Given the description of an element on the screen output the (x, y) to click on. 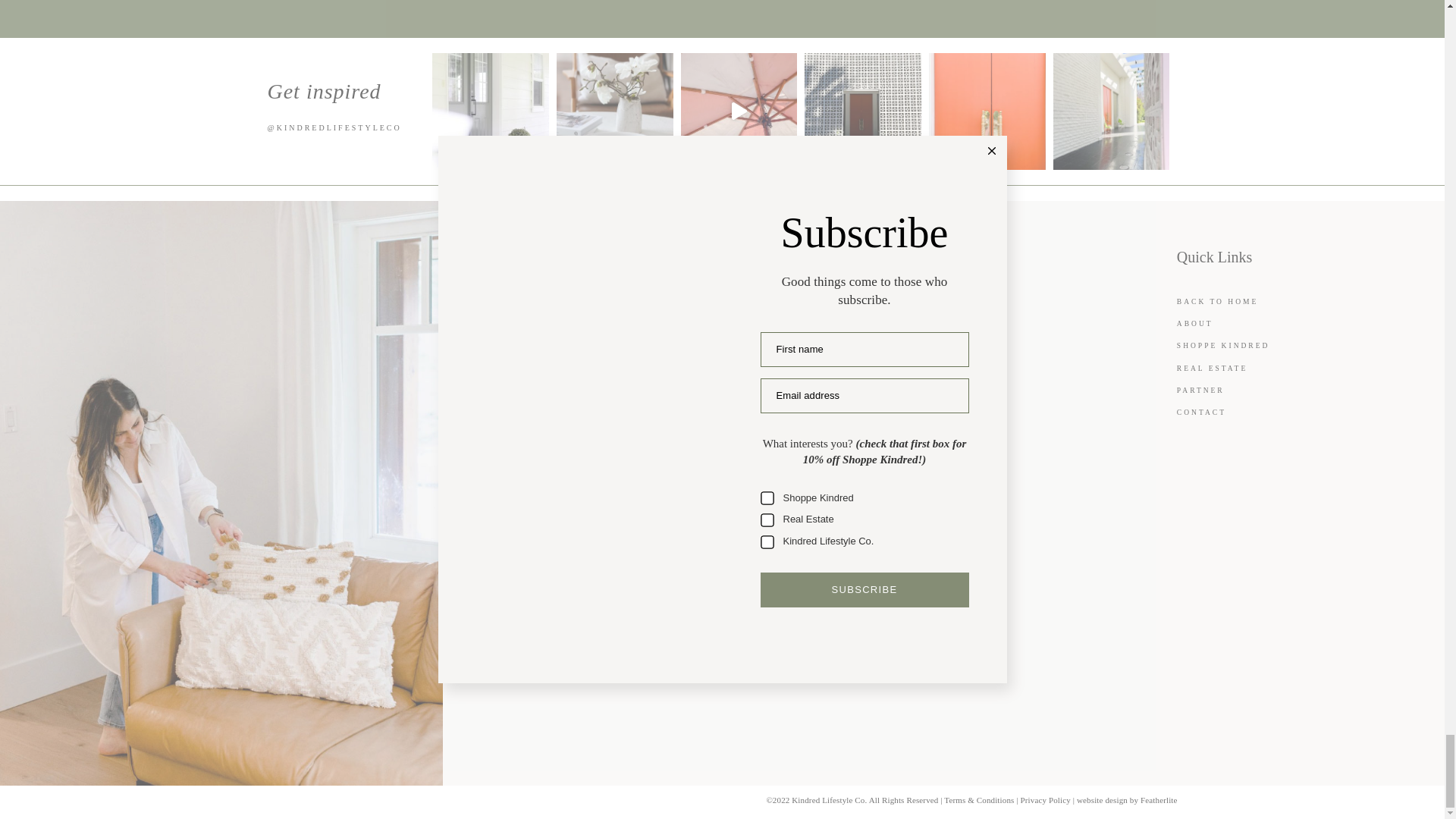
kindred-secondary-logo (583, 258)
